Given the description of an element on the screen output the (x, y) to click on. 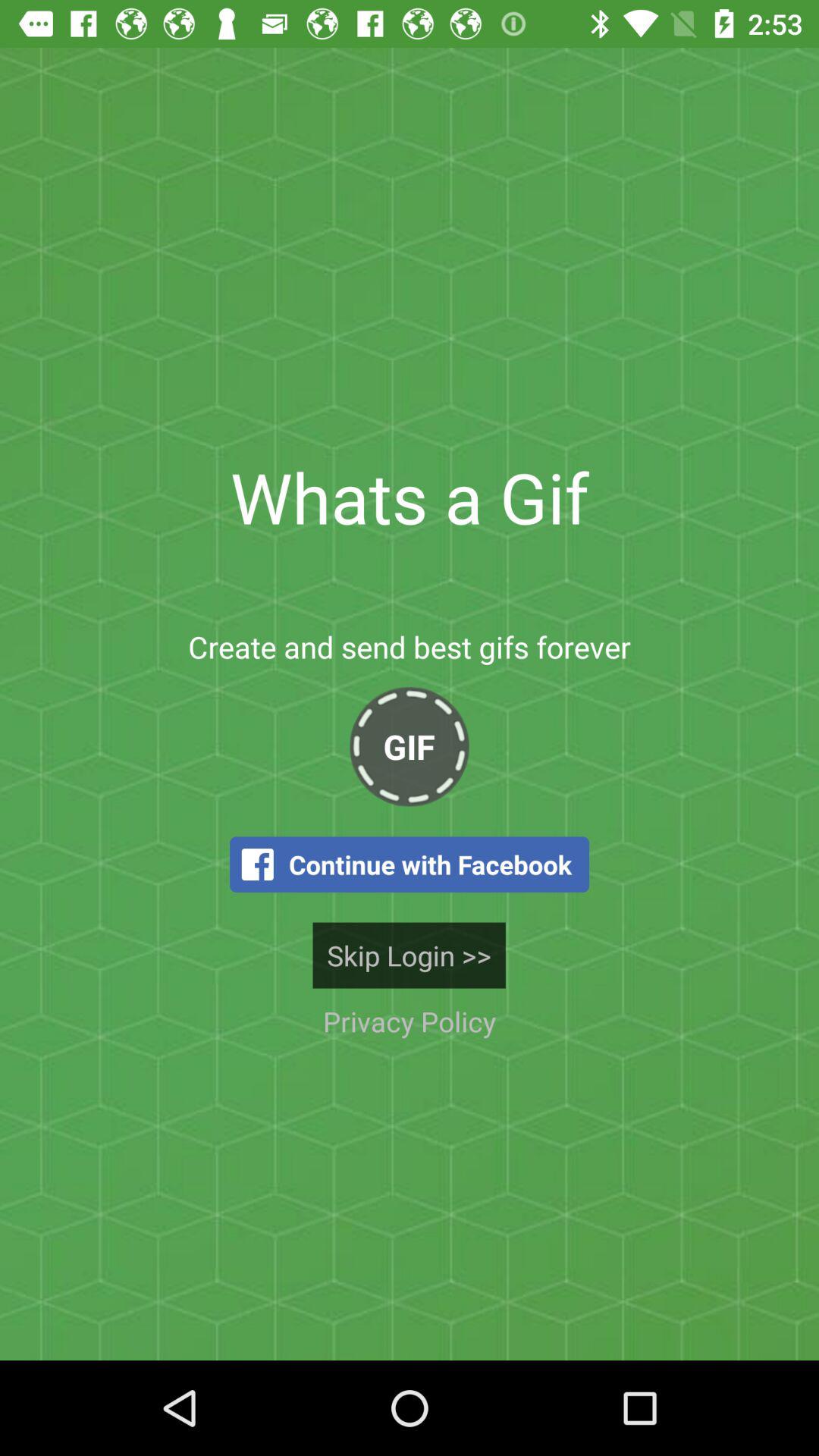
tap icon below continue with facebook item (408, 955)
